Given the description of an element on the screen output the (x, y) to click on. 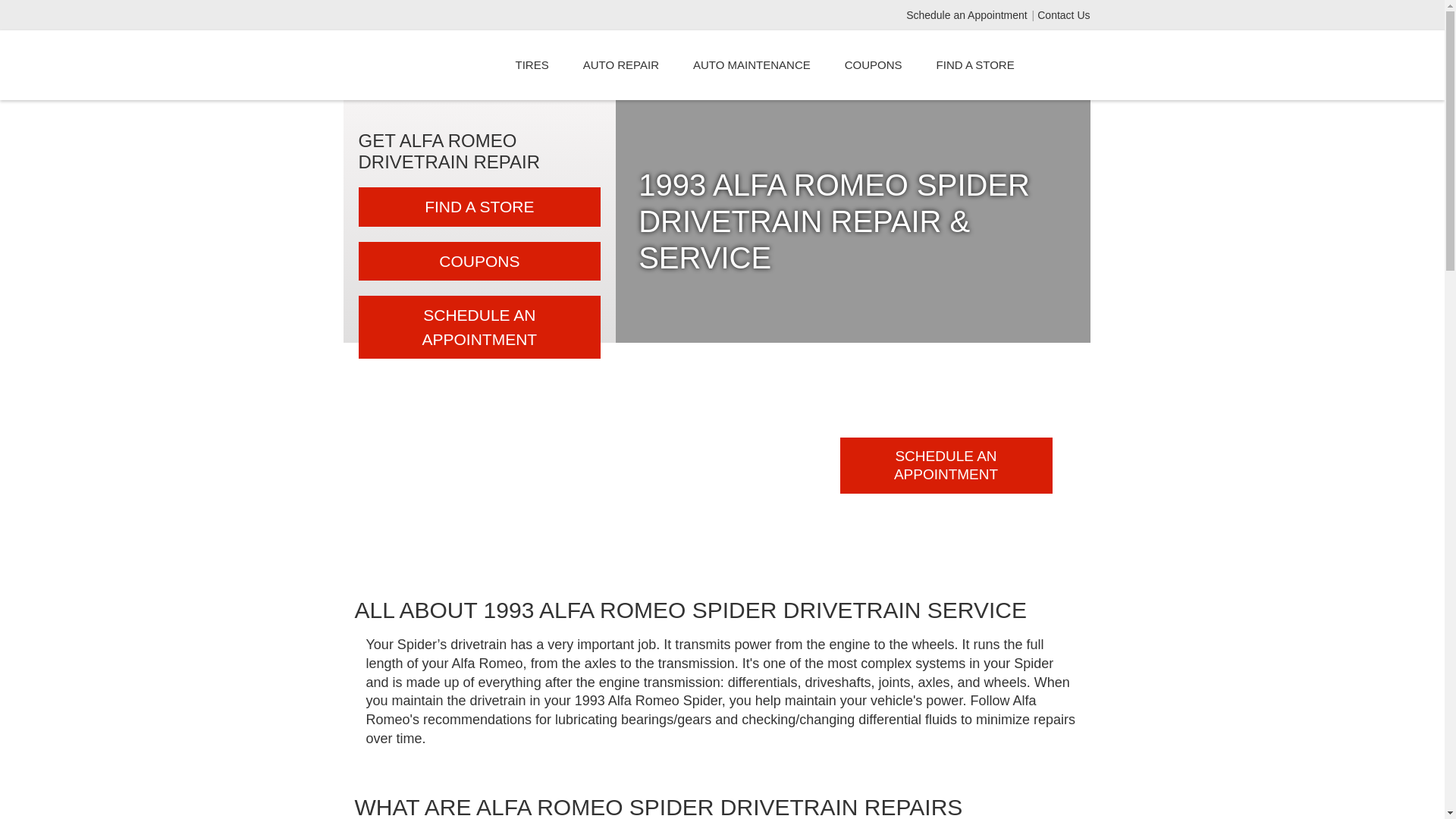
TIRES (531, 65)
COUPONS (873, 65)
Firestone Complete Auto Care (425, 64)
AUTO REPAIR (620, 65)
FIND A STORE (975, 65)
COUPONS (478, 261)
FIND A STORE (478, 206)
SCHEDULE AN APPOINTMENT (946, 465)
AUTO MAINTENANCE (751, 65)
SCHEDULE AN APPOINTMENT (478, 326)
